Given the description of an element on the screen output the (x, y) to click on. 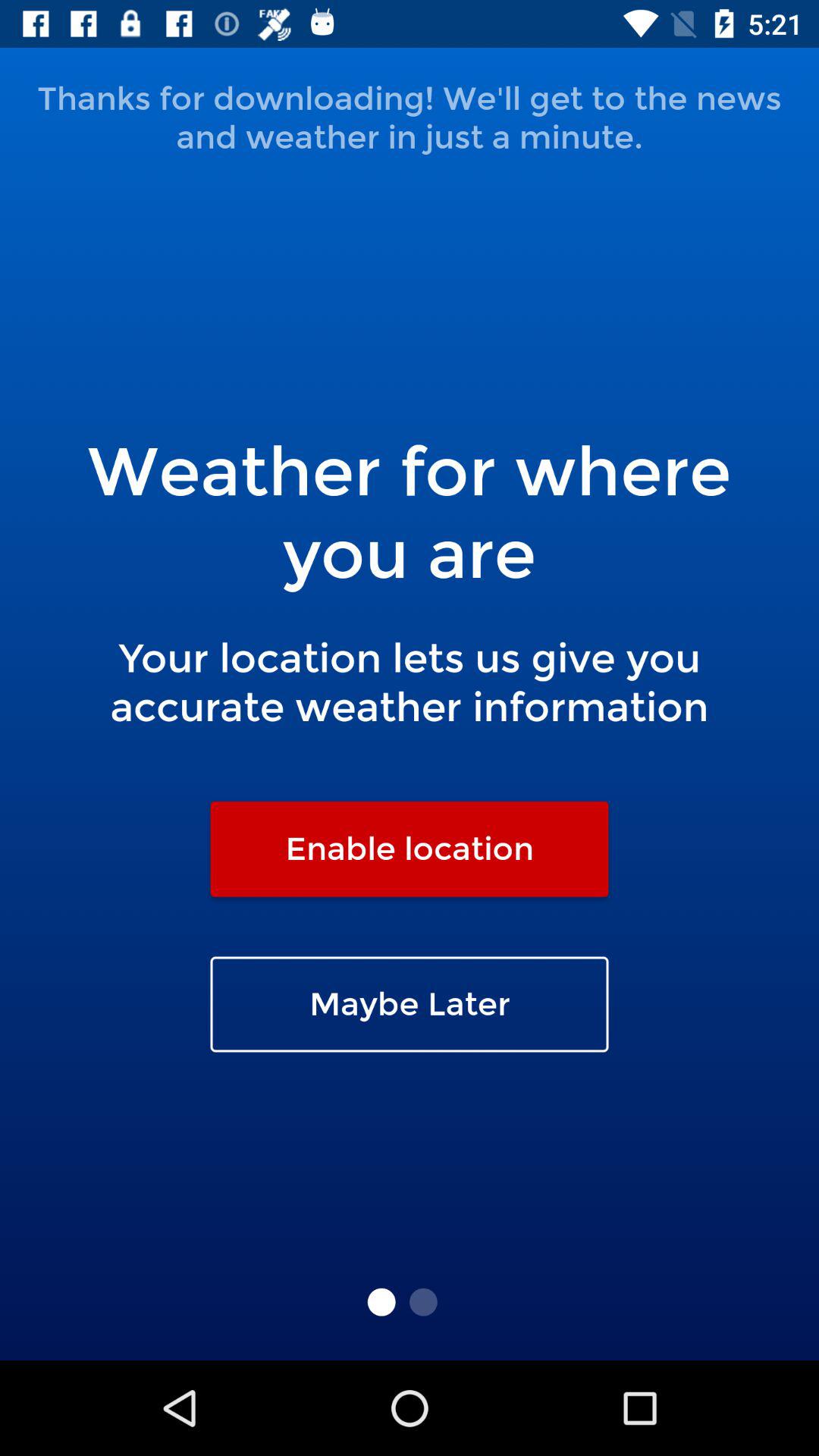
open the icon below enable location (409, 1004)
